Given the description of an element on the screen output the (x, y) to click on. 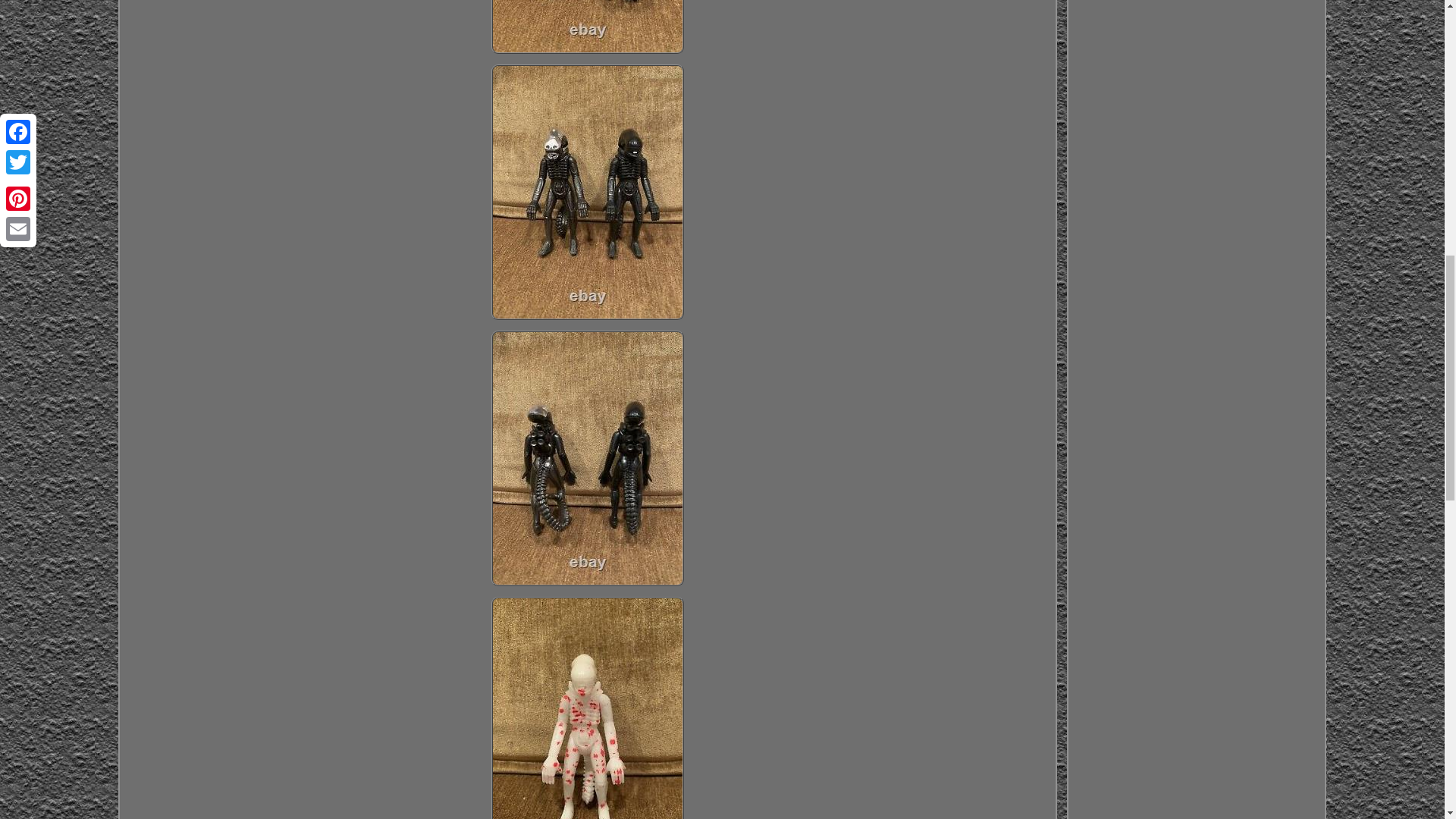
Alien reaction loose figure lot (588, 27)
